Given the description of an element on the screen output the (x, y) to click on. 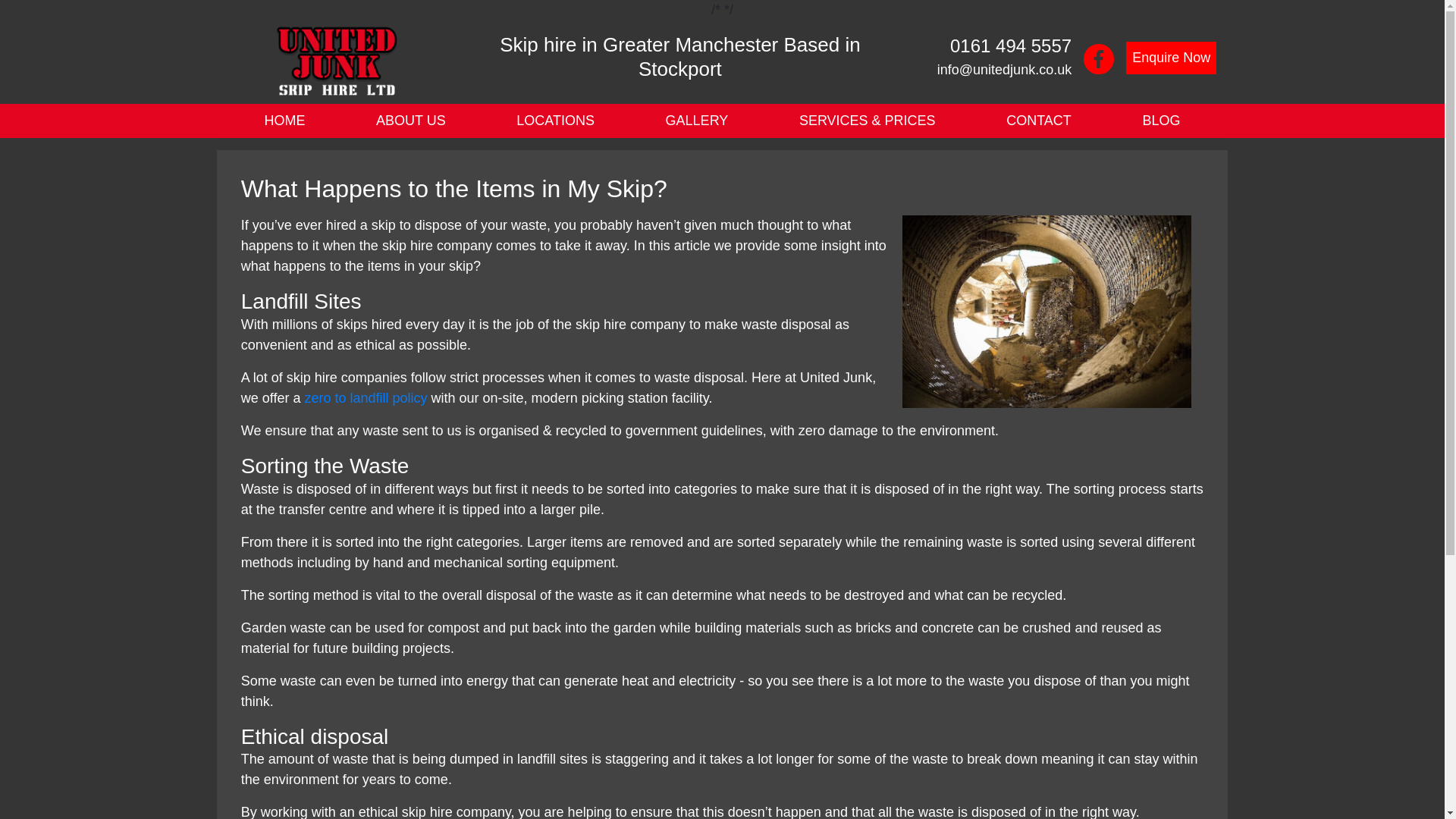
ABOUT US (410, 120)
BLOG (1160, 120)
0161 494 5557 (1010, 46)
HOME (284, 120)
zero to landfill policy (365, 397)
Enquire Now (1170, 57)
LOCATIONS (555, 120)
GALLERY (696, 120)
CONTACT (1038, 120)
